Given the description of an element on the screen output the (x, y) to click on. 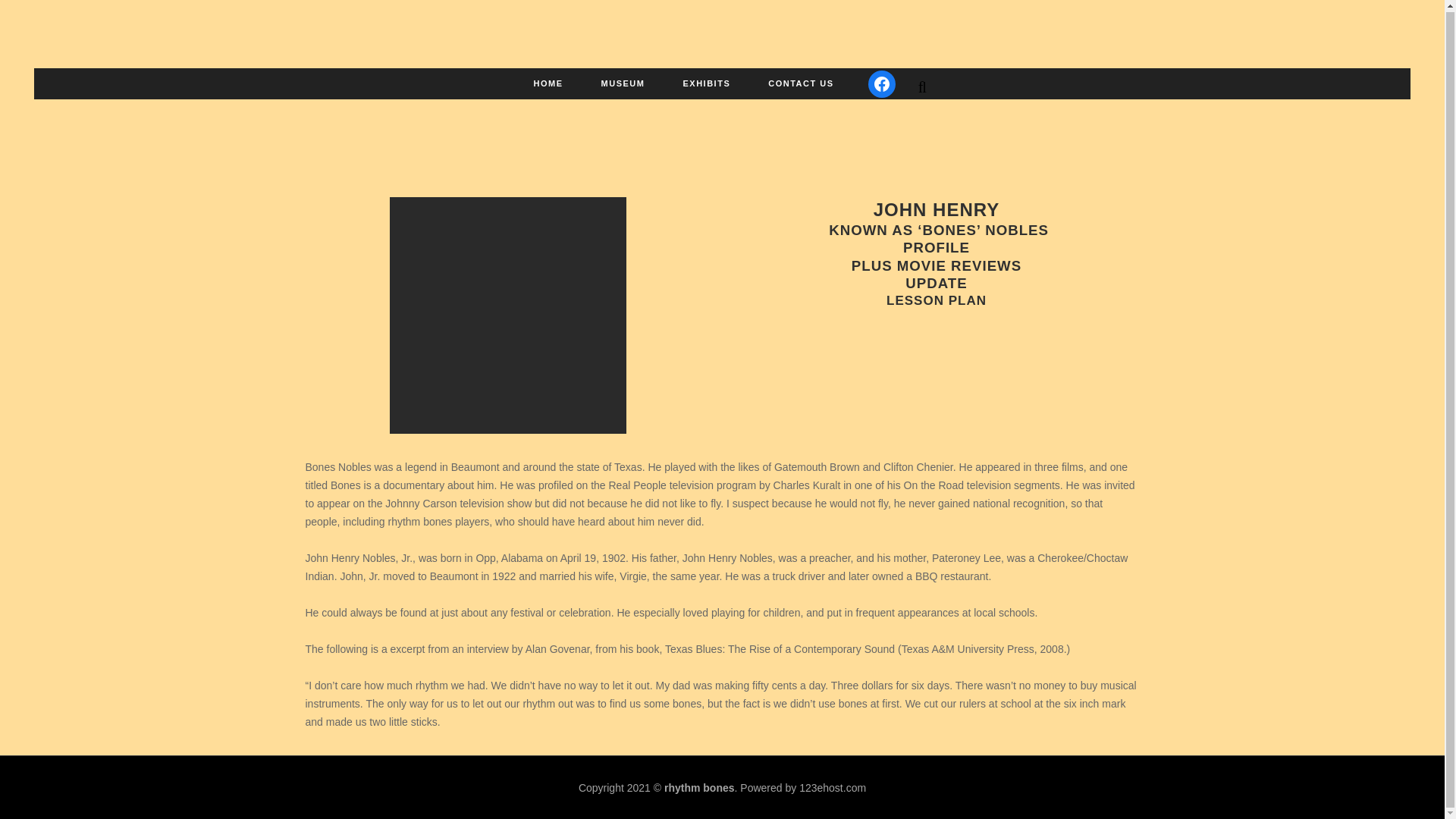
CONTACT US (800, 83)
UPDATE (935, 261)
LESSON PLAN (936, 278)
HOME (548, 83)
Facebook (881, 83)
EXHIBITS (706, 83)
MUSEUM (622, 83)
PROFILE (935, 226)
